Given the description of an element on the screen output the (x, y) to click on. 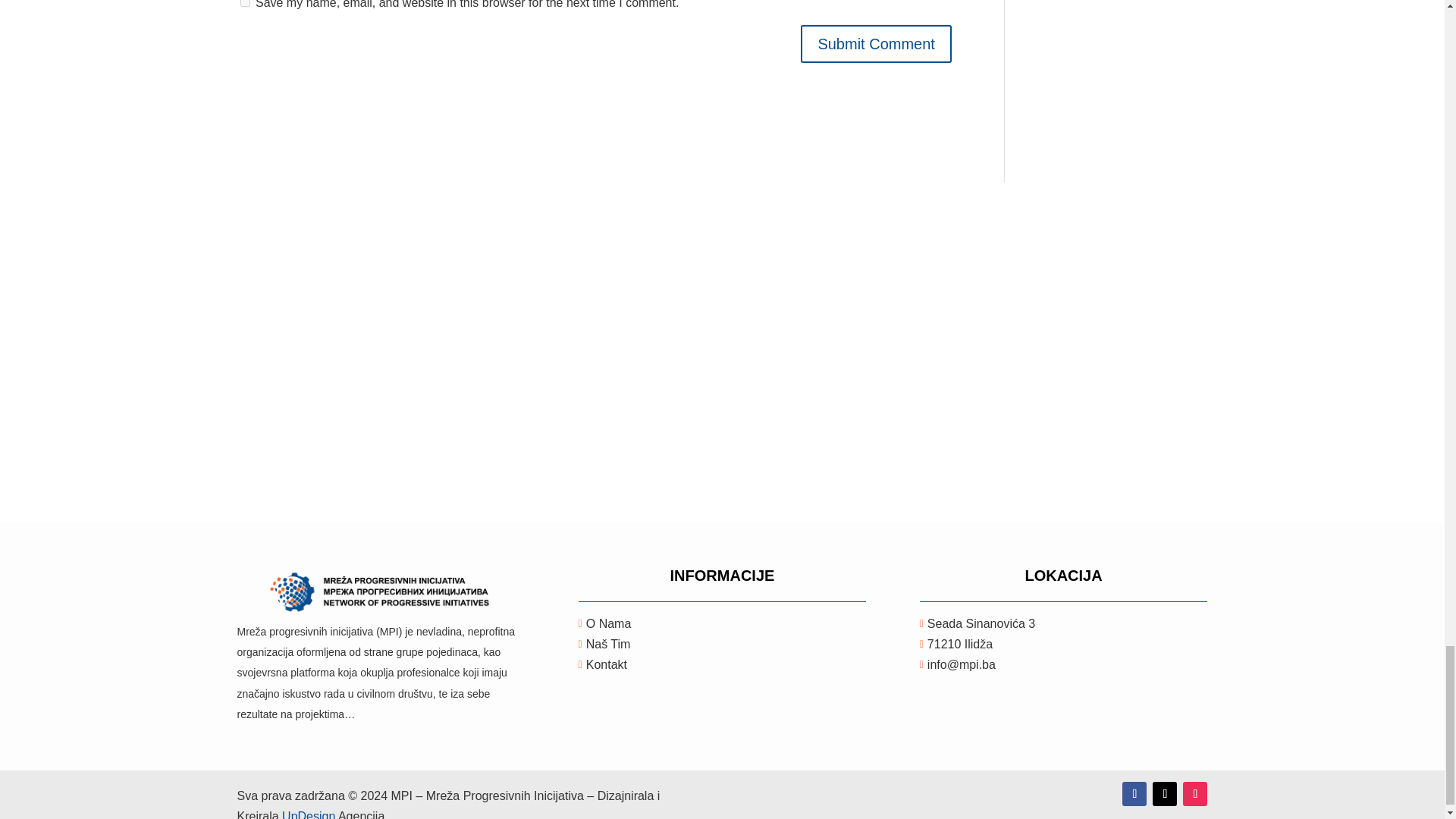
Follow on Instagram (1194, 793)
Submit Comment (876, 44)
MPI New Logo v2 (380, 593)
Follow on Facebook (1134, 793)
Follow on X (1164, 793)
yes (244, 3)
Submit Comment (876, 44)
